Given the description of an element on the screen output the (x, y) to click on. 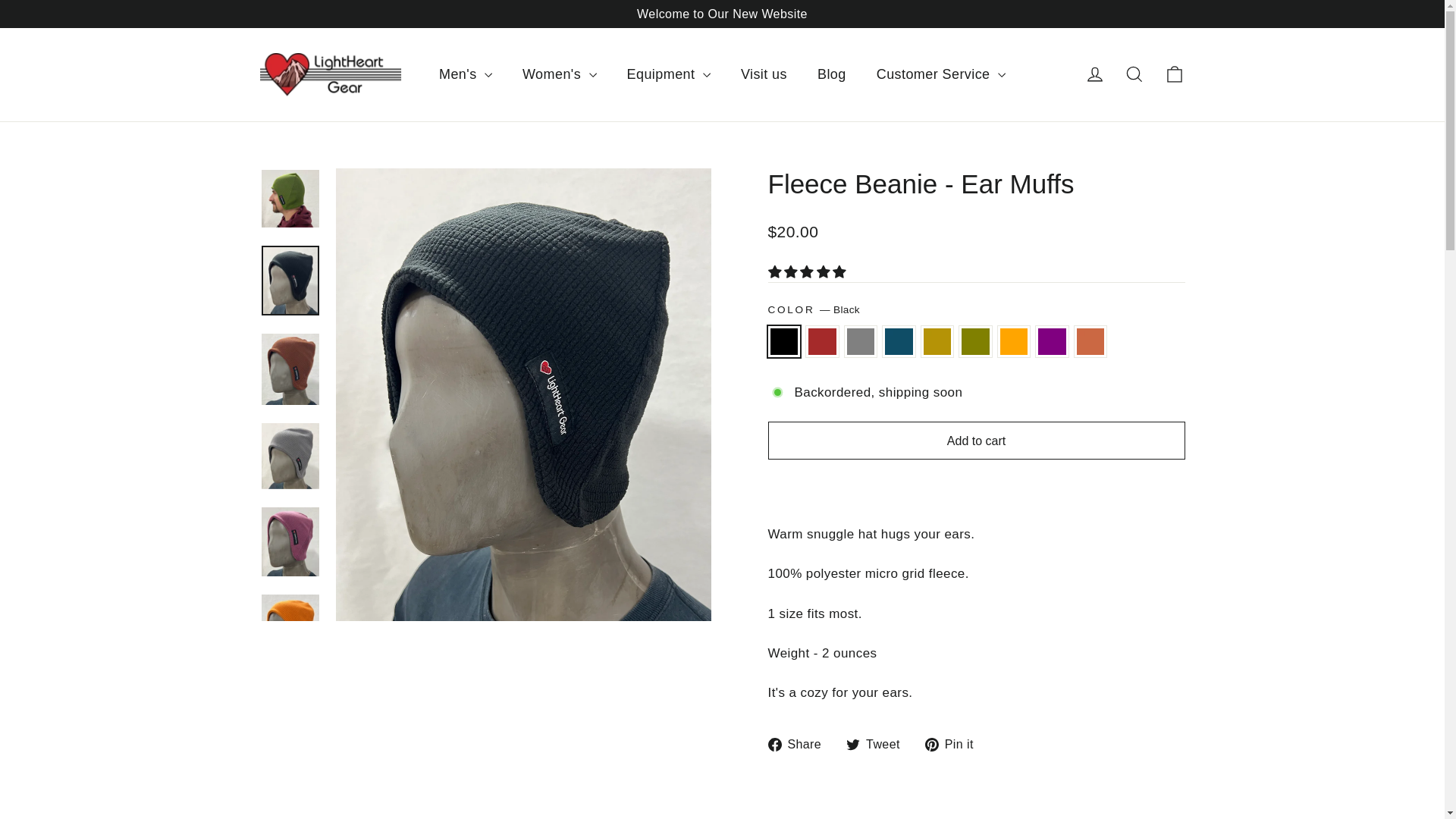
twitter (852, 744)
icon-search (1134, 74)
icon-bag-minimal (1174, 74)
Tweet on Twitter (878, 743)
account (1094, 74)
